Given the description of an element on the screen output the (x, y) to click on. 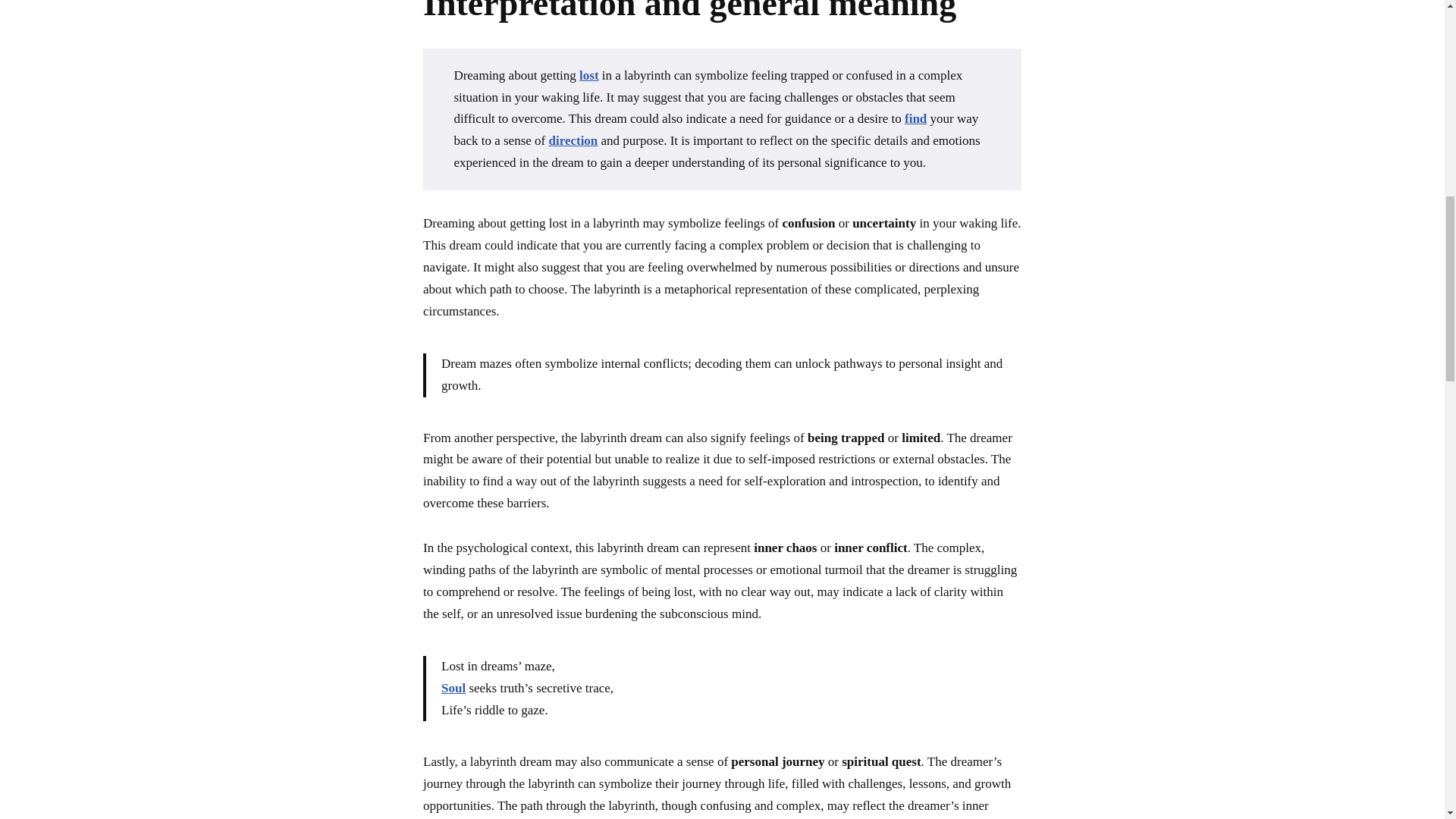
find (915, 118)
direction (572, 140)
lost (588, 74)
Soul (453, 687)
